Given the description of an element on the screen output the (x, y) to click on. 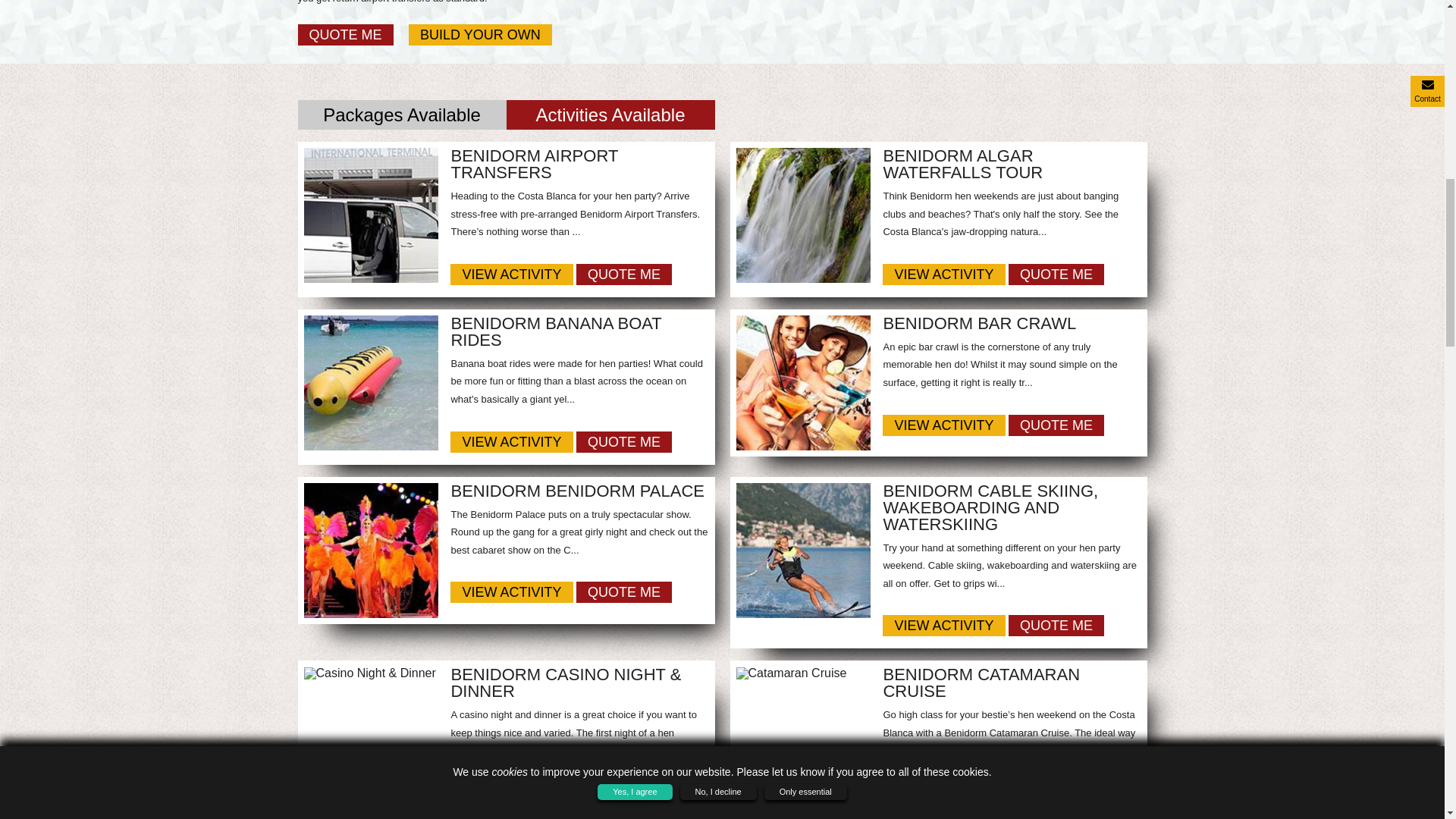
VIEW ACTIVITY (510, 441)
VIEW ACTIVITY (943, 274)
VIEW ACTIVITY (943, 424)
VIEW ACTIVITY (510, 591)
Activities Available (610, 114)
Packages Available (401, 114)
VIEW ACTIVITY (510, 274)
